Given the description of an element on the screen output the (x, y) to click on. 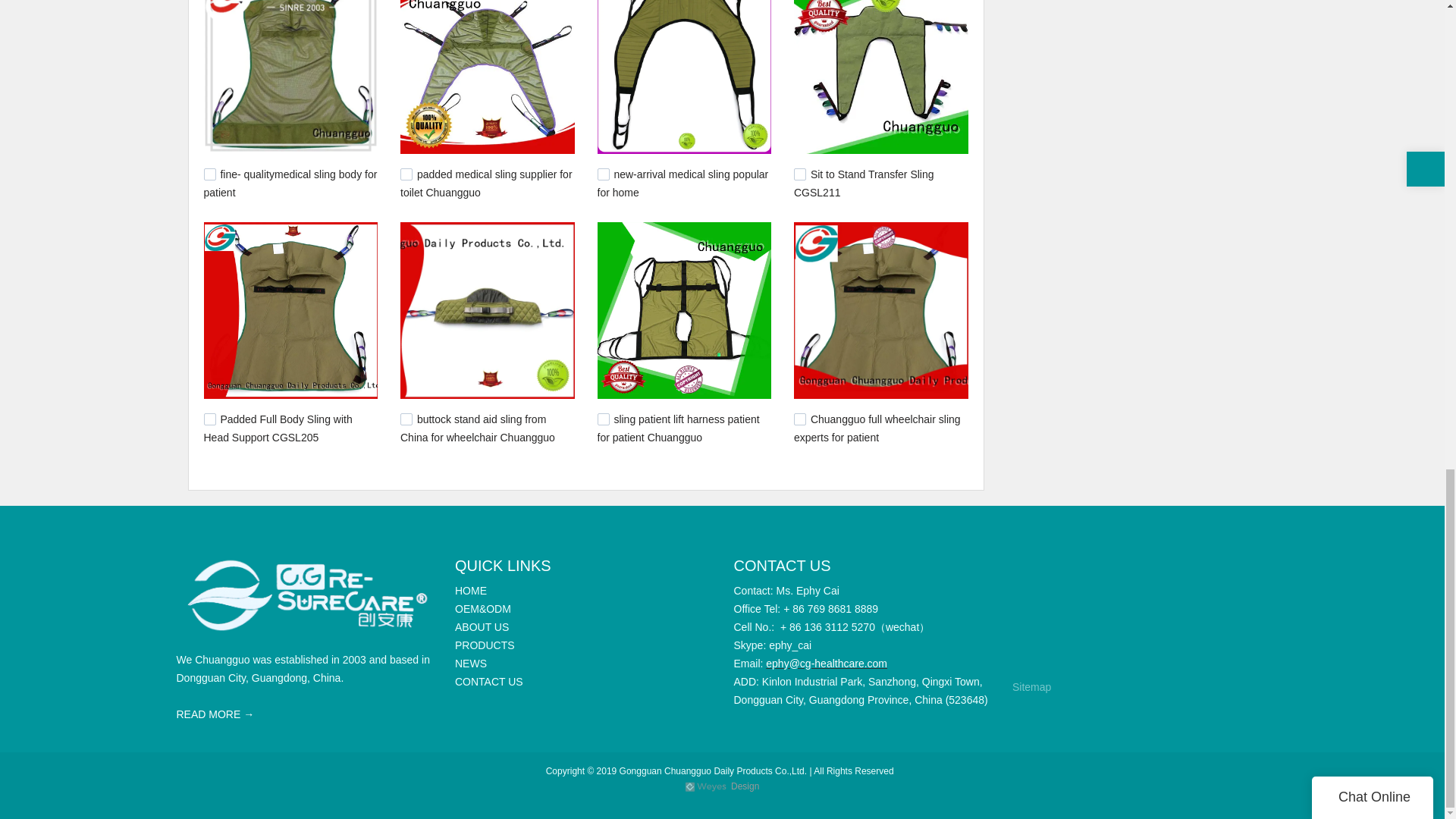
1961 (603, 419)
Sit to Stand Transfer Sling CGSL211 (863, 183)
Chuangguo full wheelchair sling experts for patient (876, 428)
sling patient lift harness patient for patient Chuangguo (678, 428)
2023 (406, 419)
2599 (799, 174)
1904 (799, 419)
padded medical sling supplier for toilet Chuangguo (486, 183)
fine- qualitymedical sling body for patient (290, 183)
buttock stand aid sling from China for wheelchair Chuangguo (477, 428)
Padded Full Body Sling with Head Support CGSL205 (277, 428)
2679 (603, 174)
new-arrival medical sling popular for home (682, 183)
2694 (406, 174)
2699 (209, 174)
